Given the description of an element on the screen output the (x, y) to click on. 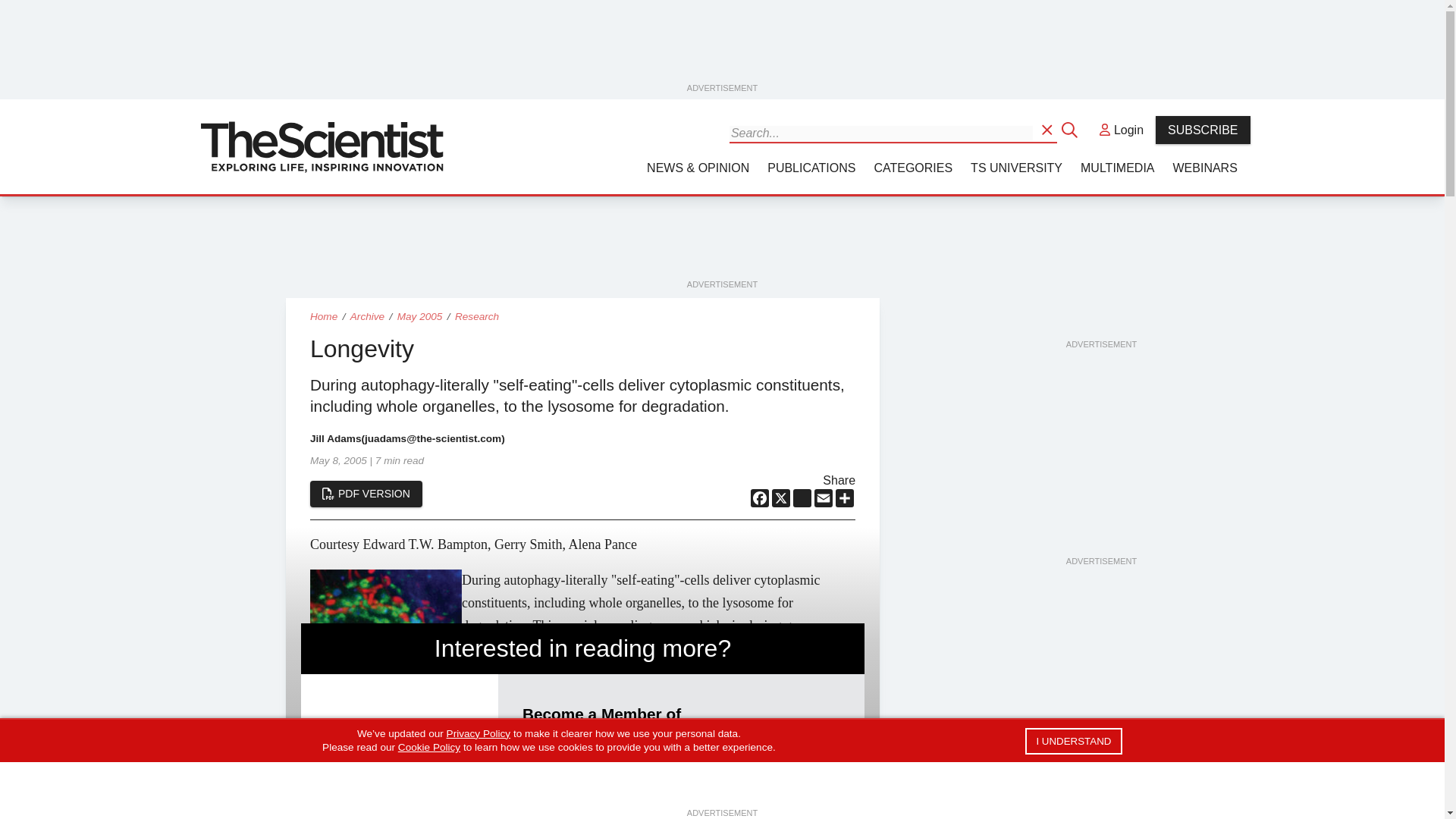
Magaizne Cover (399, 772)
Open Search (1049, 129)
Close Search (1071, 129)
